Given the description of an element on the screen output the (x, y) to click on. 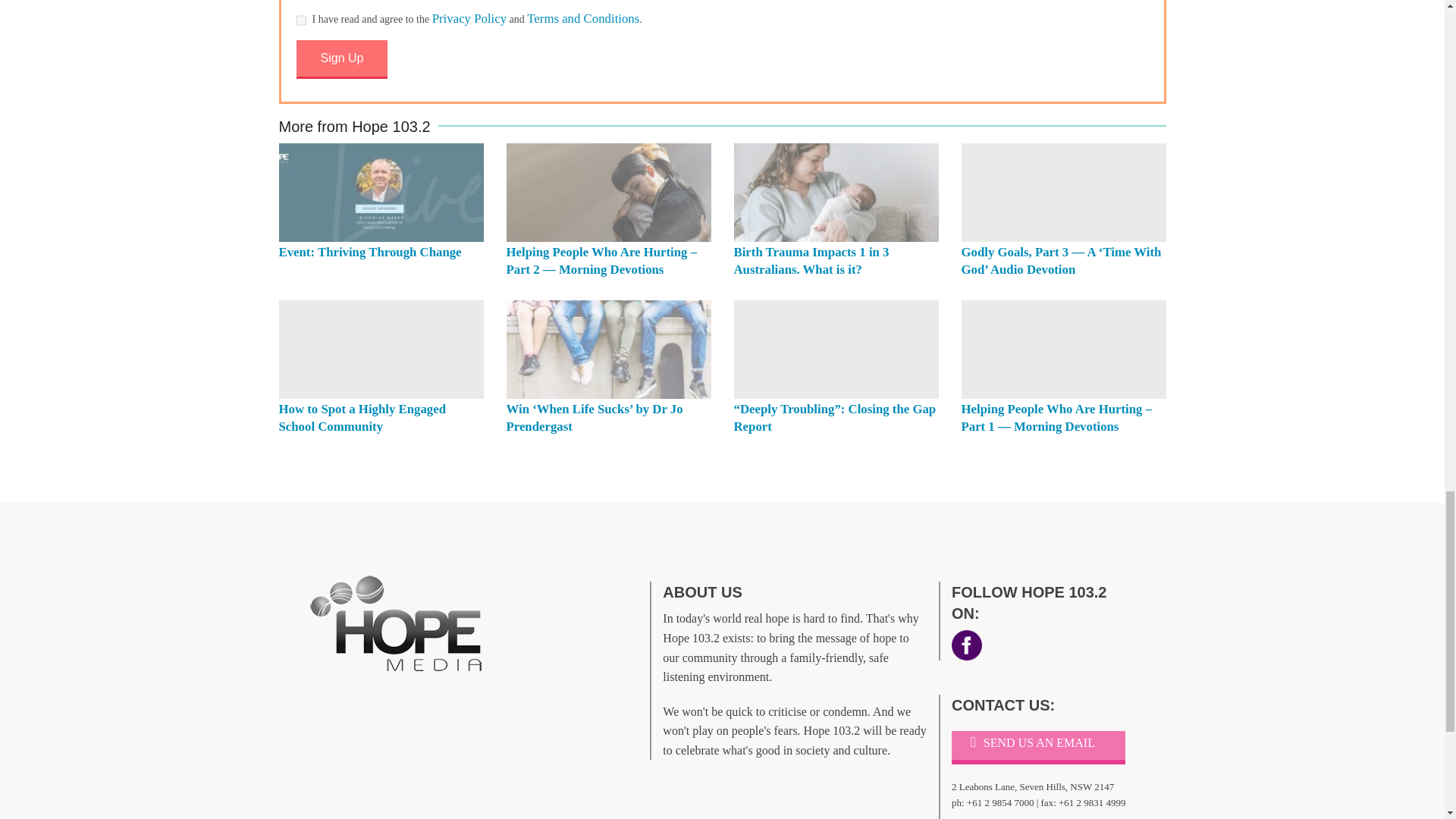
Event: Thriving Through Change (381, 192)
How to Spot a Highly Engaged School Community (381, 349)
Event: Thriving Through Change (370, 251)
Birth Trauma Impacts 1 in 3 Australians. What is it? (811, 260)
Birth Trauma Impacts 1 in 3 Australians. What is it? (836, 192)
Sign Up (341, 59)
How to Spot a Highly Engaged School Community (362, 418)
